Given the description of an element on the screen output the (x, y) to click on. 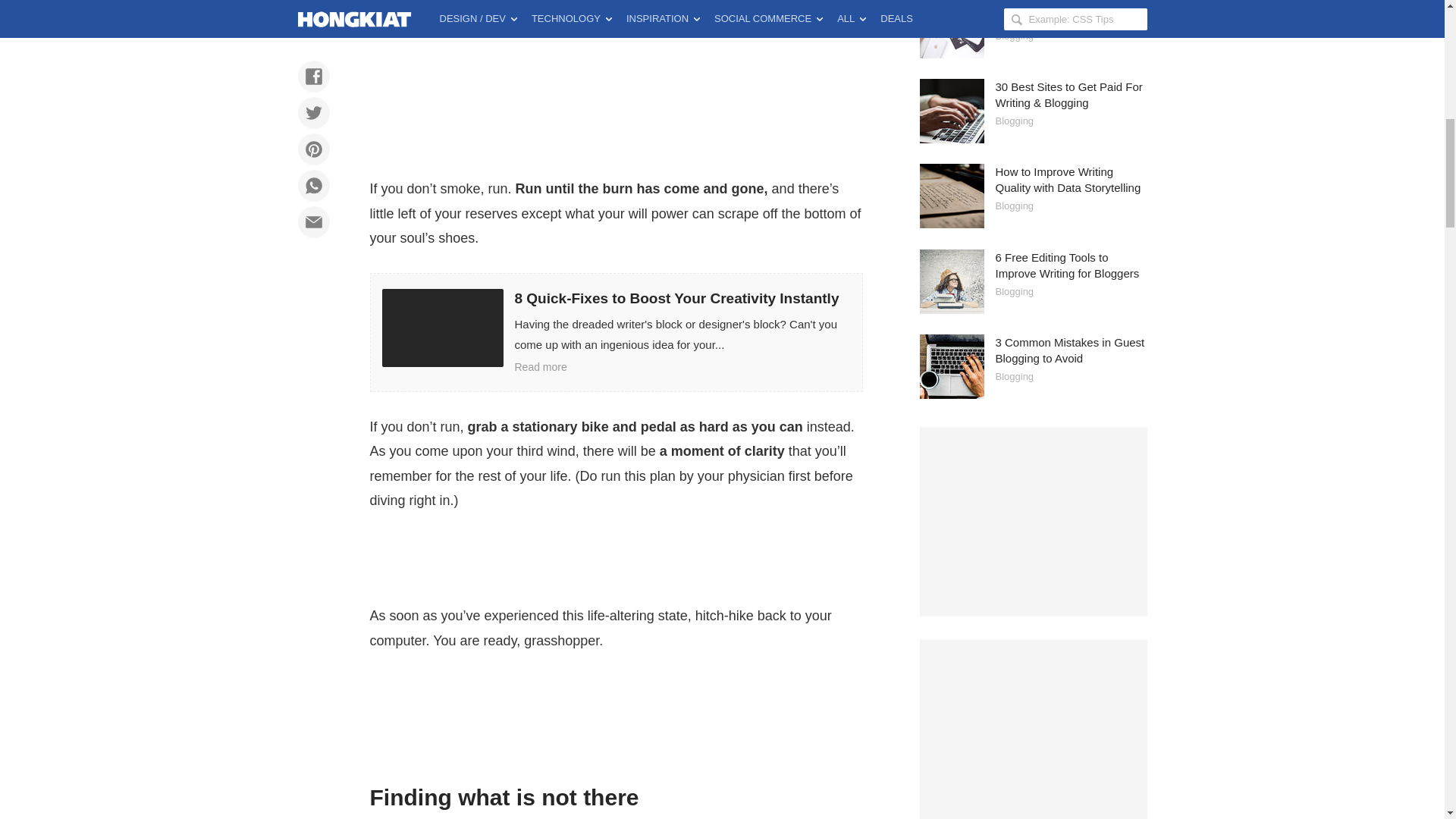
Advertisement (616, 84)
8 Quick-Fixes to Boost Your Creativity Instantly (615, 331)
Read More: 8 Quick-Fixes to Boost Your Creativity Instantly (615, 331)
